Given the description of an element on the screen output the (x, y) to click on. 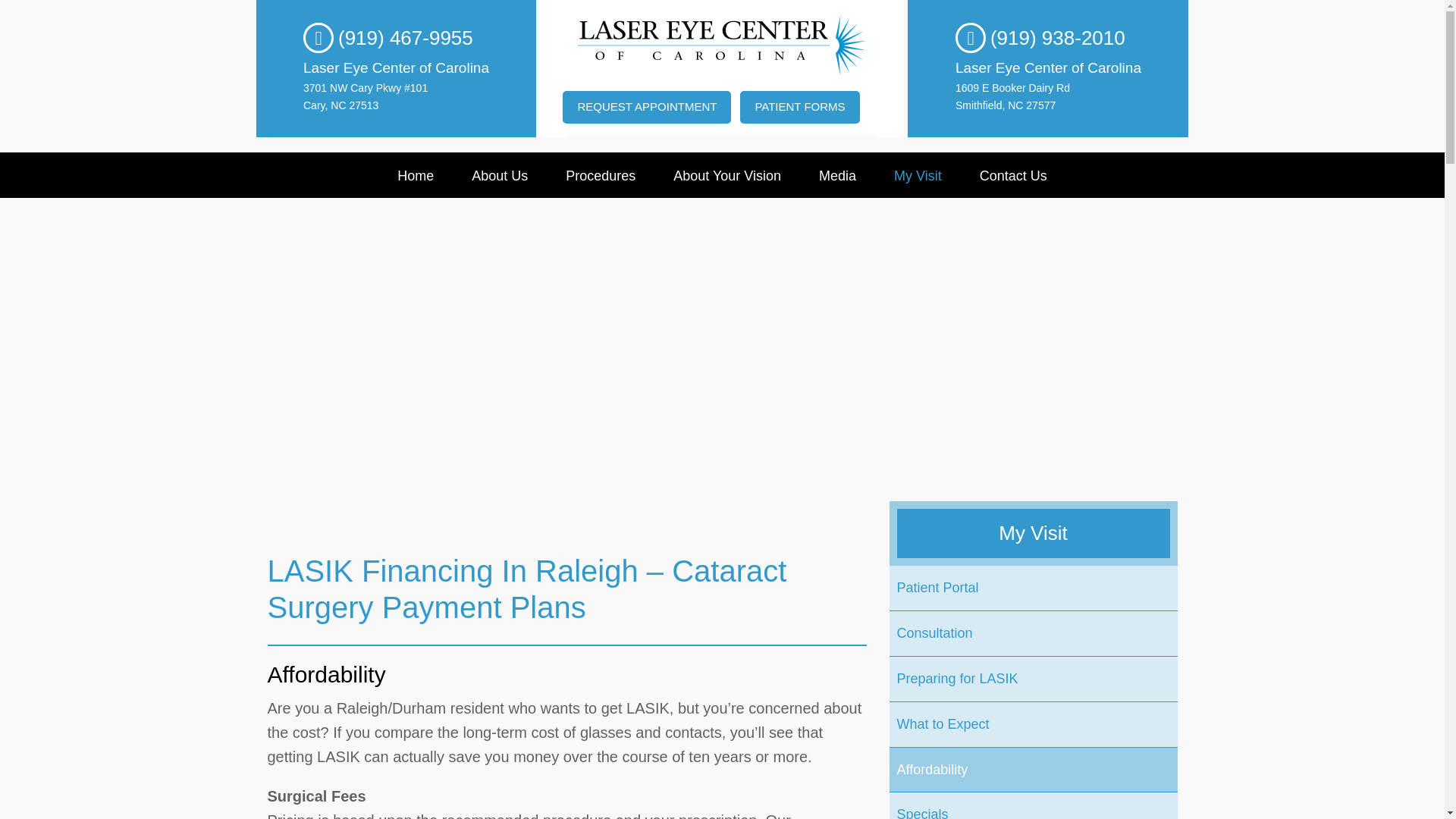
Consultation (917, 261)
Affordability (917, 388)
Our Charities (499, 261)
Media (837, 175)
Presbyopic Lens Exchange (600, 388)
Blog (499, 219)
Corneal Collagen Cross-Linking for Keratoconus (600, 516)
Preparing for LASIK (917, 303)
Home (415, 175)
iFS (600, 473)
